Given the description of an element on the screen output the (x, y) to click on. 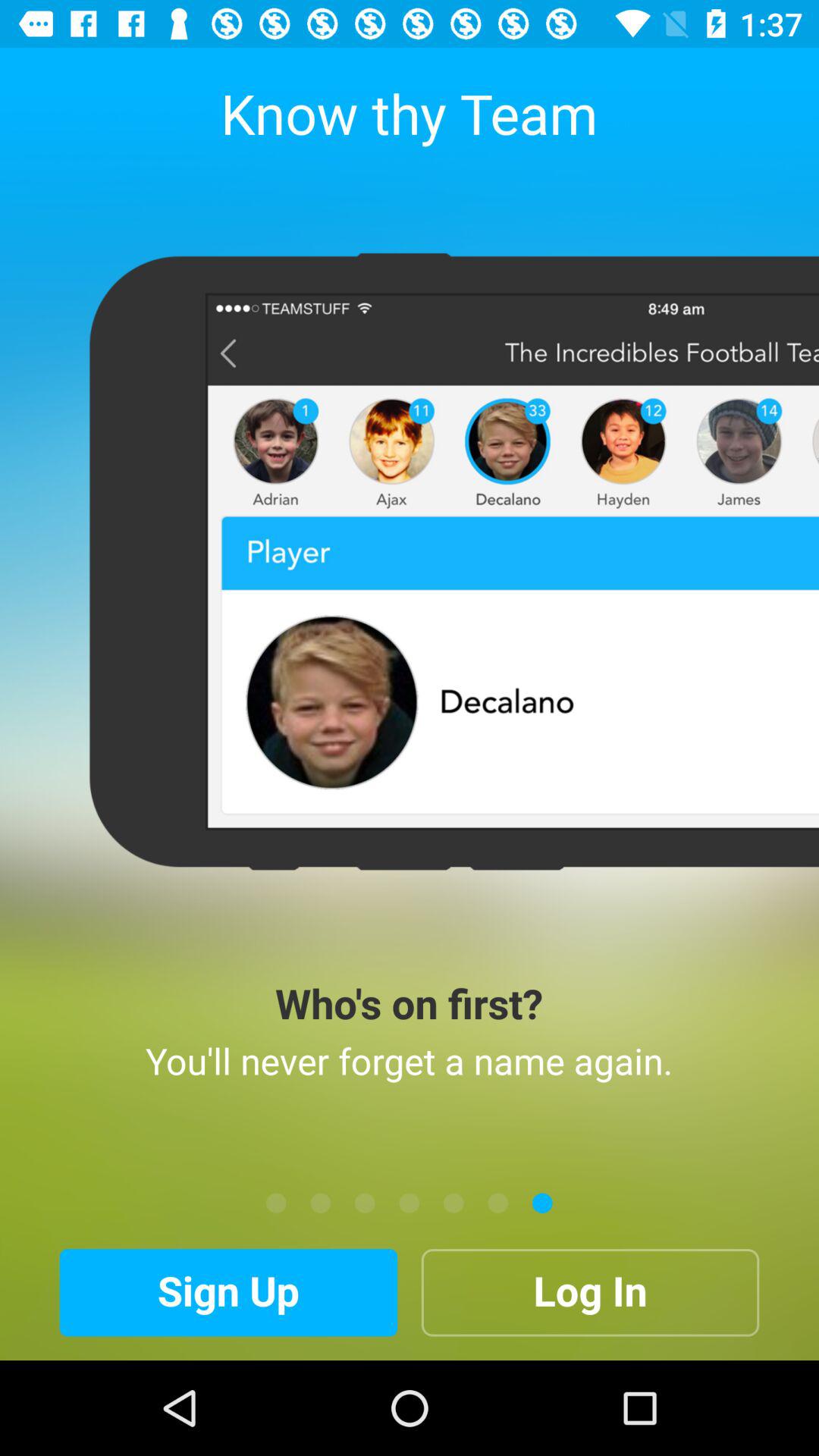
press icon above sign up (320, 1203)
